Given the description of an element on the screen output the (x, y) to click on. 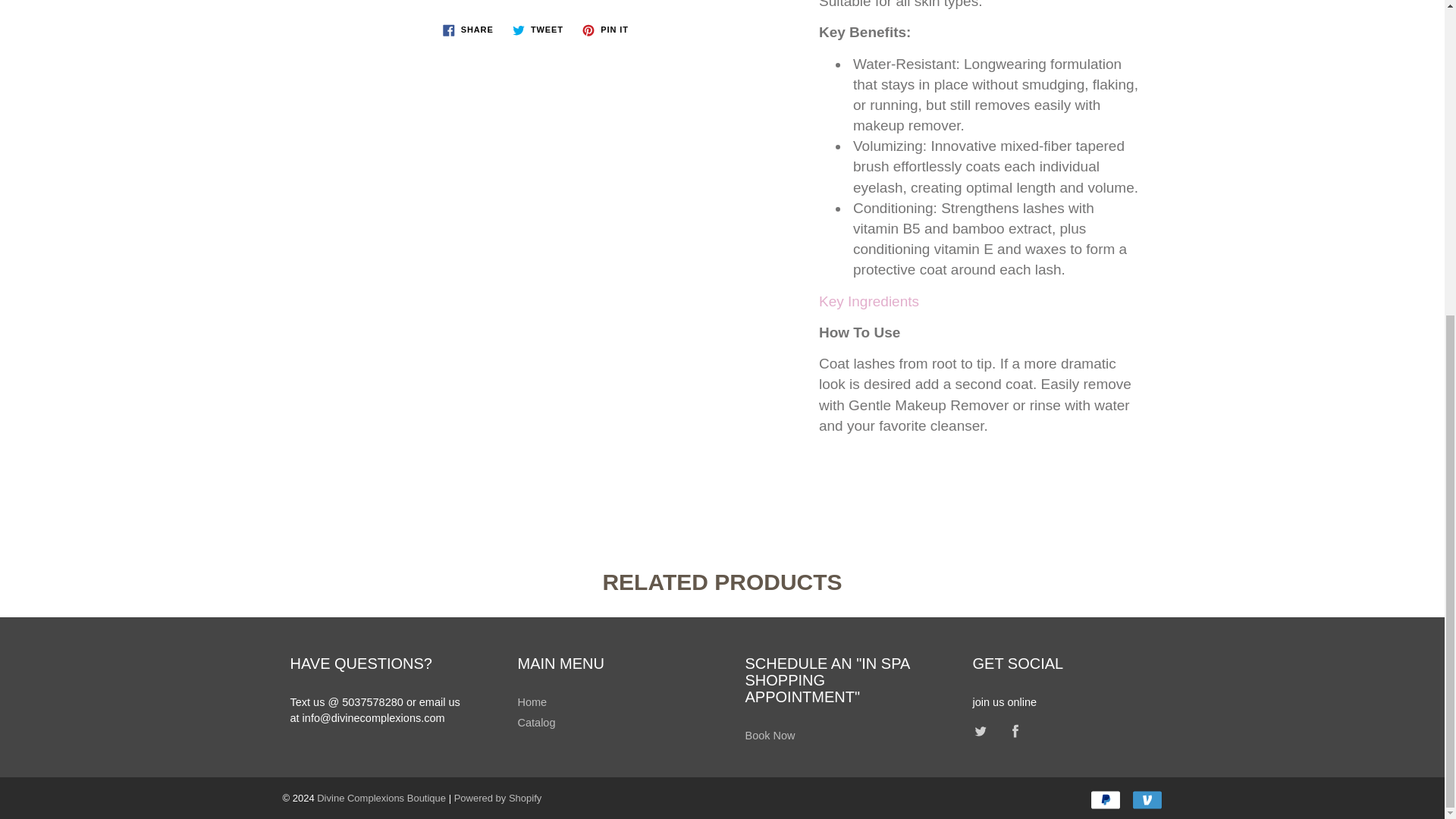
Facebook (1016, 731)
TWEET (537, 29)
Twitter (981, 731)
PIN IT (604, 29)
SHARE (467, 29)
Venmo (1146, 799)
Share on Facebook (467, 29)
PayPal (1105, 799)
Tweet on Twitter (537, 29)
Pin on Pinterest (604, 29)
